Given the description of an element on the screen output the (x, y) to click on. 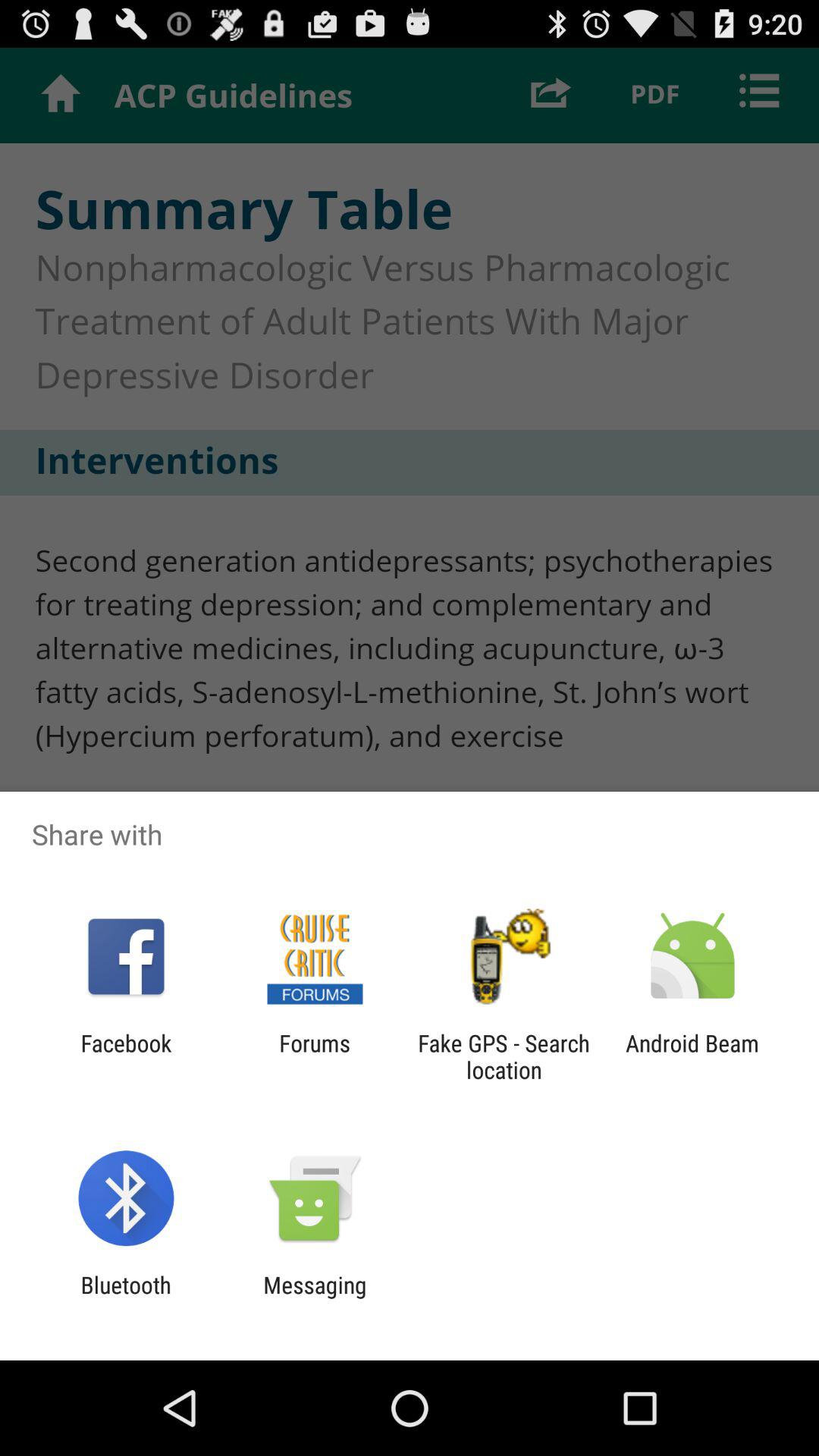
select bluetooth (125, 1298)
